Given the description of an element on the screen output the (x, y) to click on. 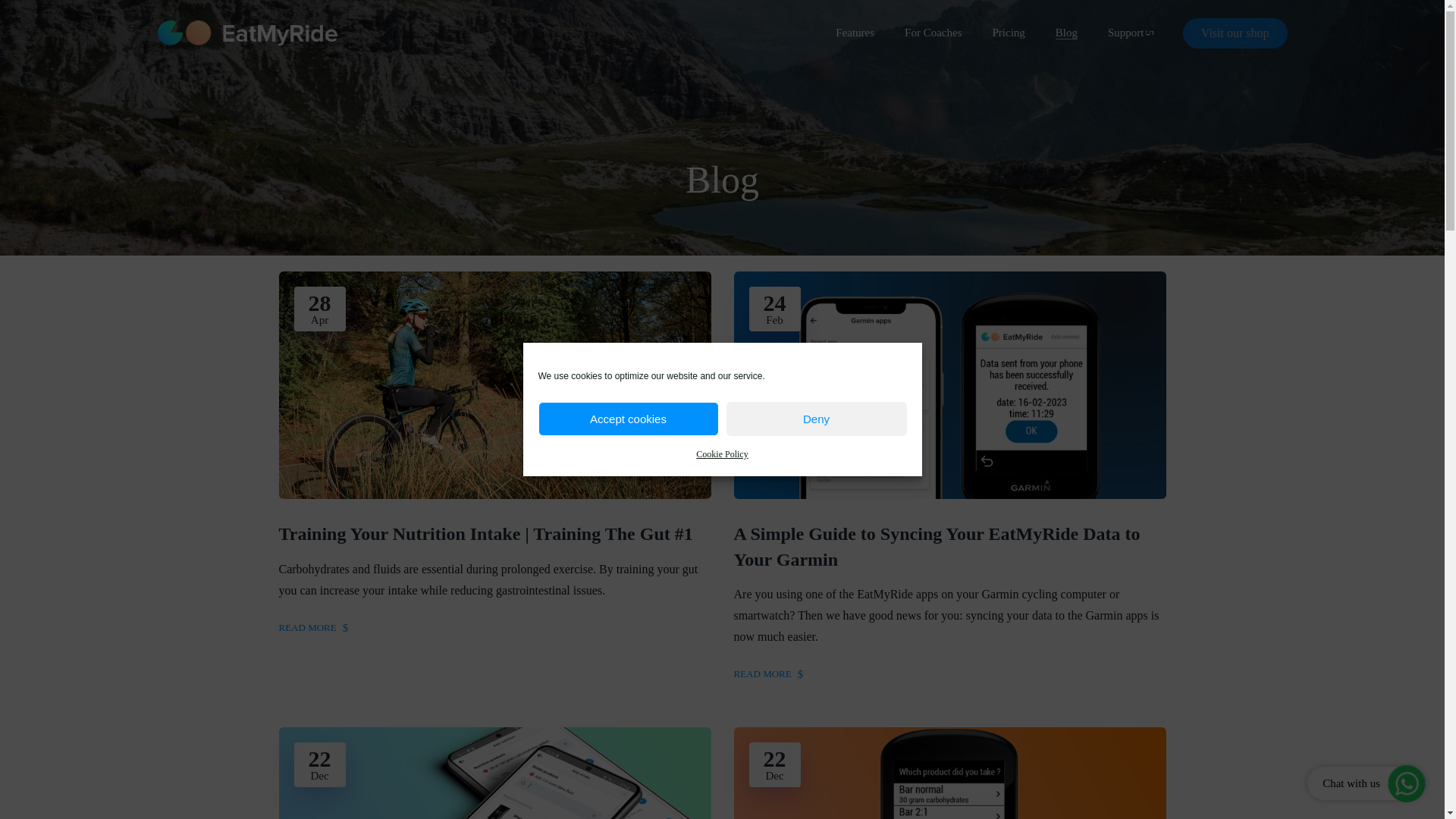
Deny (816, 418)
Accept cookies (628, 418)
Features (855, 32)
Pricing (1008, 32)
A Simple Guide to Syncing Your EatMyRide Data to Your Garmin (949, 546)
A Simple Guide to Syncing Your EatMyRide Data to Your Garmin (949, 546)
Blog (1066, 32)
READ MORE (313, 627)
READ MORE (768, 673)
Chat with us (1366, 783)
Visit our shop (1234, 33)
Cookie Policy (721, 454)
For Coaches (932, 32)
Support (1130, 32)
